Given the description of an element on the screen output the (x, y) to click on. 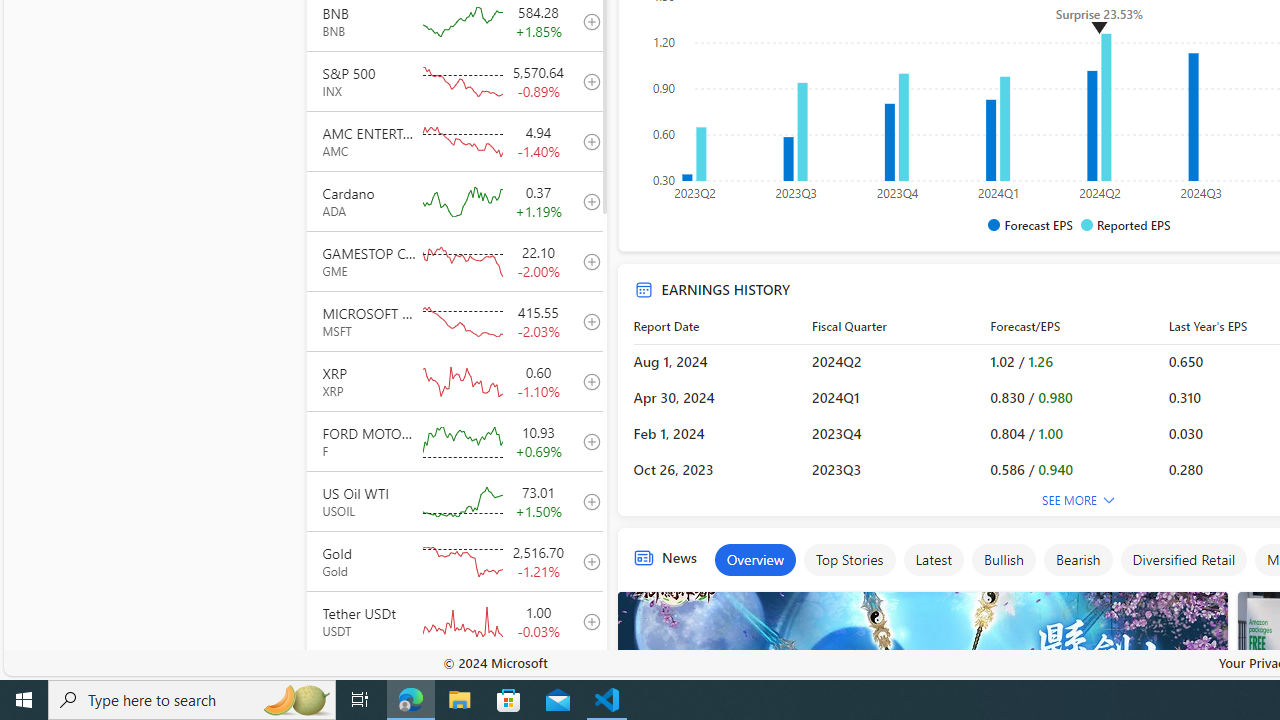
Overview (755, 560)
Bullish (1003, 560)
AdChoices (1211, 601)
add to your watchlist (586, 681)
SEE MORE (1079, 501)
